Given the description of an element on the screen output the (x, y) to click on. 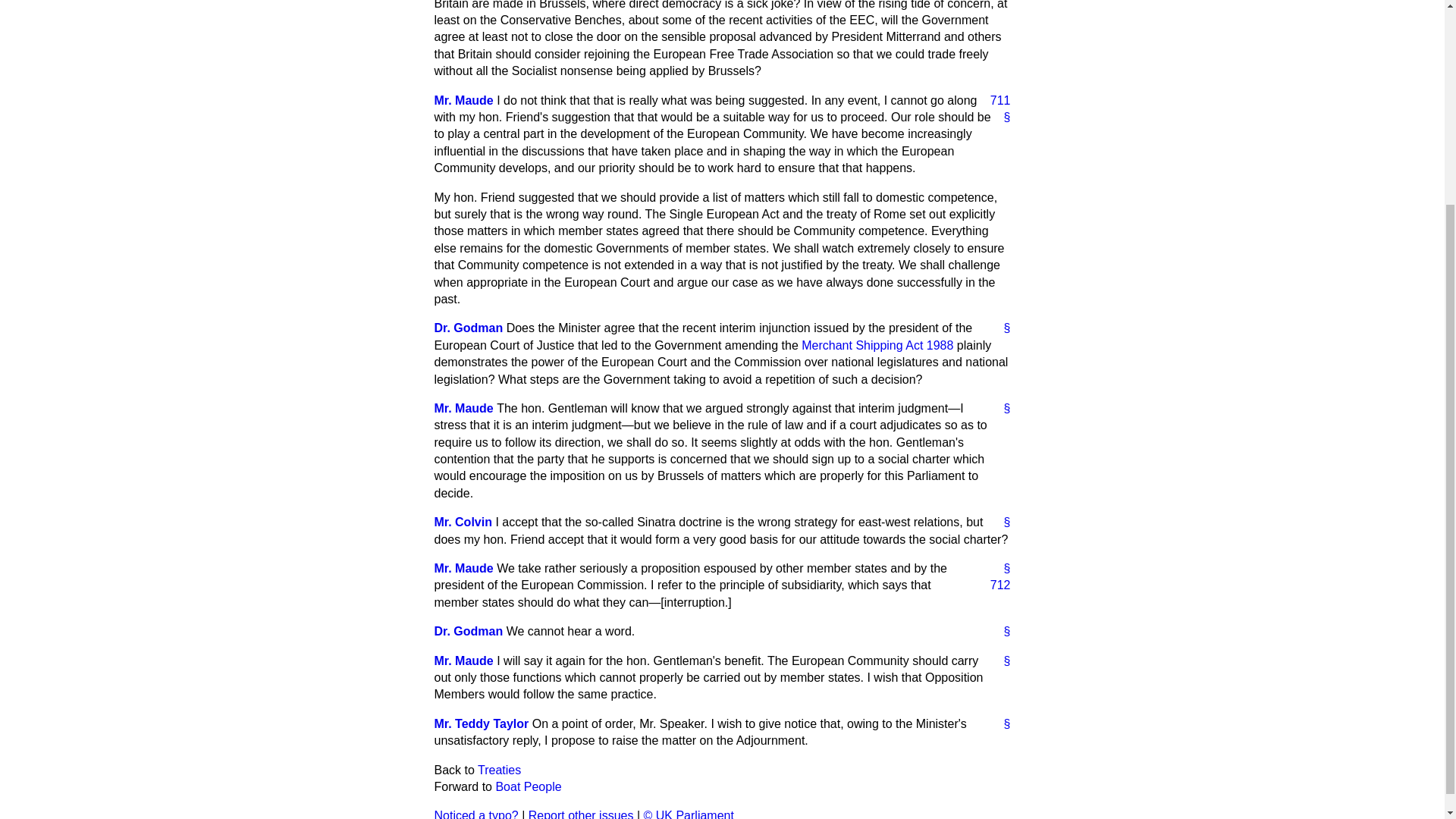
Mr Michael Colvin (462, 521)
Mr. Colvin (462, 521)
711 (994, 100)
Mr. Maude (463, 408)
Link to this speech by Mr Francis Maude (1000, 117)
Merchant Shipping Act 1988 (877, 345)
712 (994, 585)
Link to this speech by Mr Francis Maude (1000, 568)
Mr. Maude (463, 100)
Mr Francis Maude (463, 100)
